Given the description of an element on the screen output the (x, y) to click on. 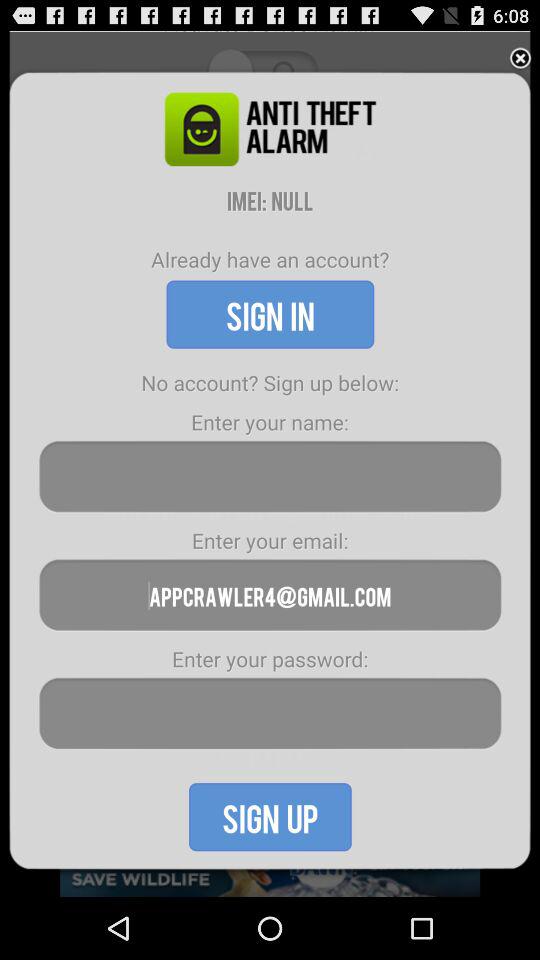
toggle pssword box (270, 713)
